Given the description of an element on the screen output the (x, y) to click on. 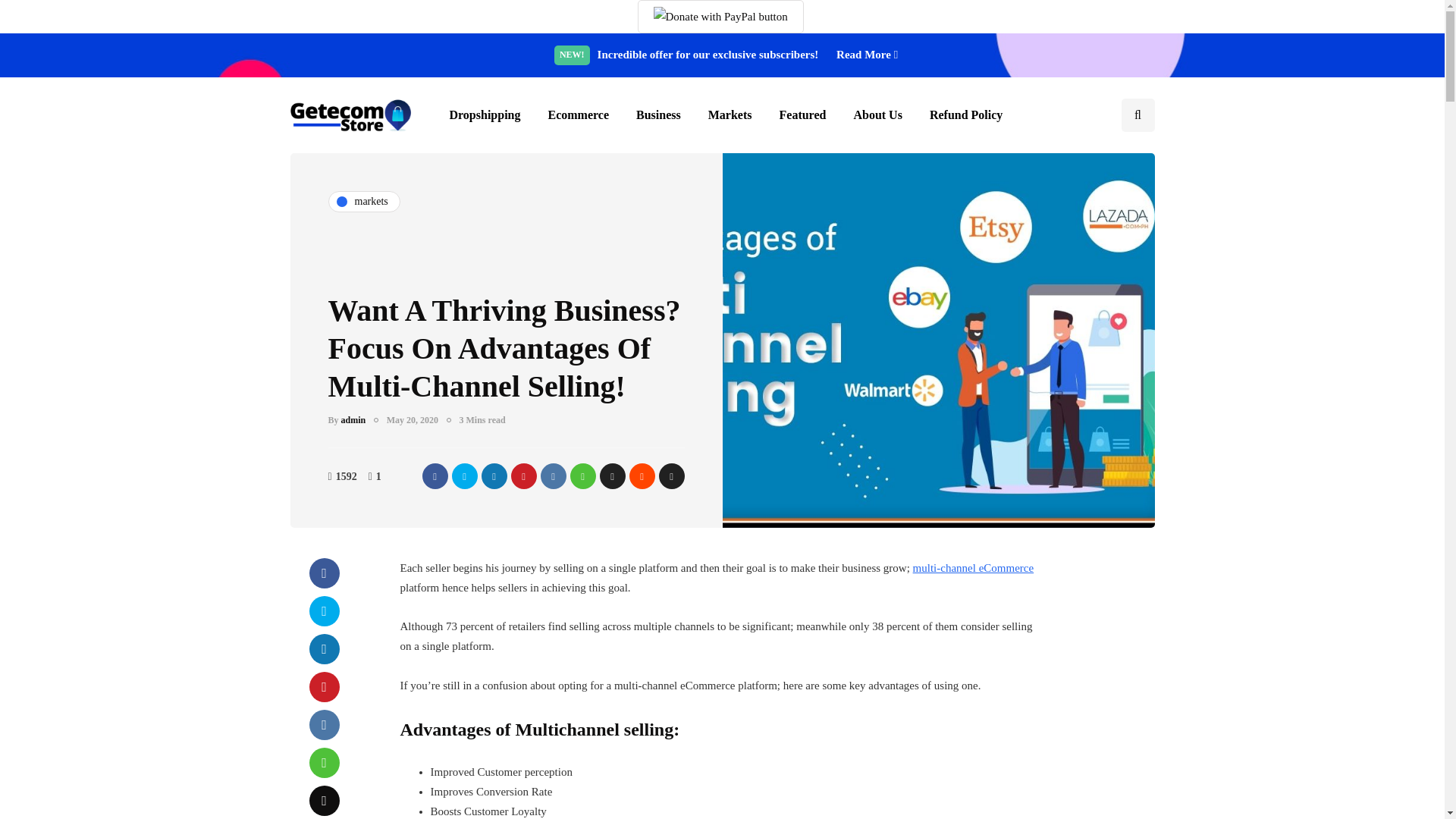
Share with Facebook (434, 475)
Markets (729, 114)
admin (353, 419)
Share with LinkedIn (493, 475)
Pin this (524, 475)
Share on Reddit (641, 475)
markets (362, 201)
Dropshipping (484, 114)
Share with VKontakte (553, 475)
multi-channel selling guide (972, 567)
